Given the description of an element on the screen output the (x, y) to click on. 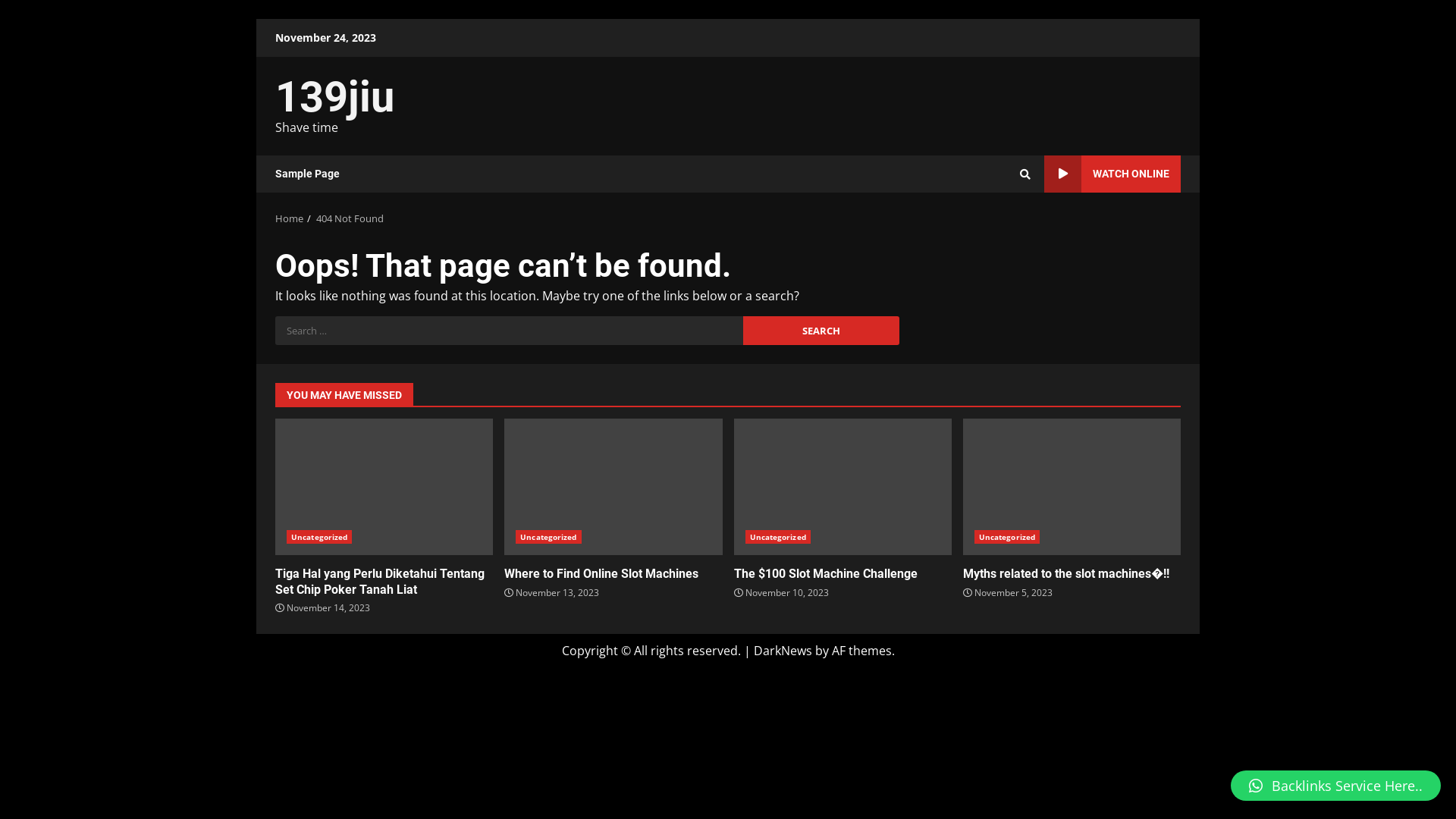
The $100 Slot Machine Challenge Element type: text (842, 486)
Home Element type: text (289, 218)
Sample Page Element type: text (307, 173)
Uncategorized Element type: text (318, 536)
Skip to content Element type: text (255, 18)
Uncategorized Element type: text (776, 536)
Uncategorized Element type: text (547, 536)
Where to Find Online Slot Machines Element type: text (601, 573)
Uncategorized Element type: text (1006, 536)
Backlinks Service Here.. Element type: text (1335, 785)
Search Element type: text (821, 330)
404 Not Found Element type: text (349, 218)
DarkNews Element type: text (782, 650)
139jiu Element type: text (334, 97)
Search Element type: hover (1024, 173)
Search Element type: text (997, 225)
Where to Find Online Slot Machines Element type: text (612, 486)
WATCH ONLINE Element type: text (1112, 173)
The $100 Slot Machine Challenge Element type: text (825, 573)
